Given the description of an element on the screen output the (x, y) to click on. 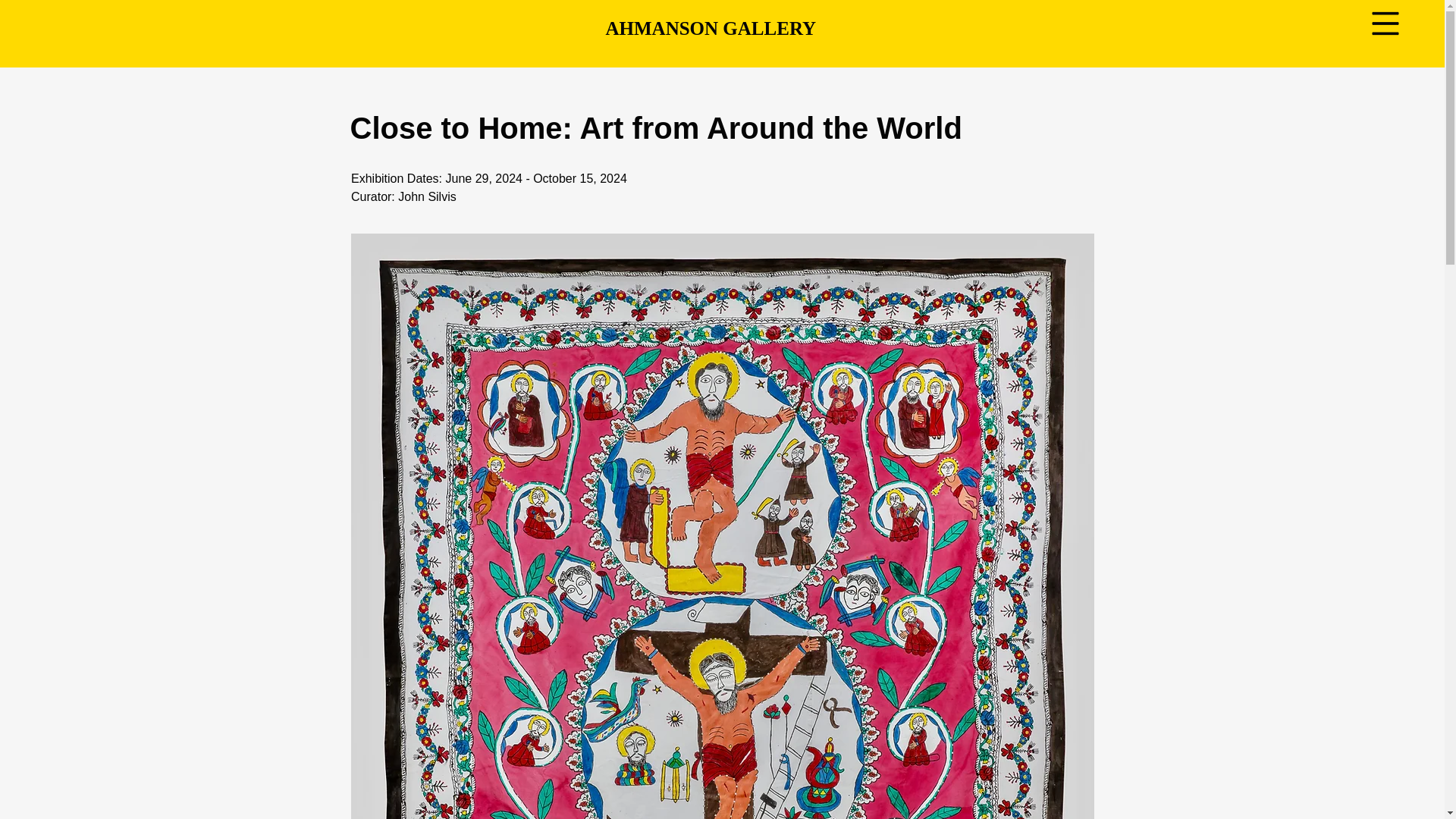
AHMANSON GALLERY (718, 27)
